Given the description of an element on the screen output the (x, y) to click on. 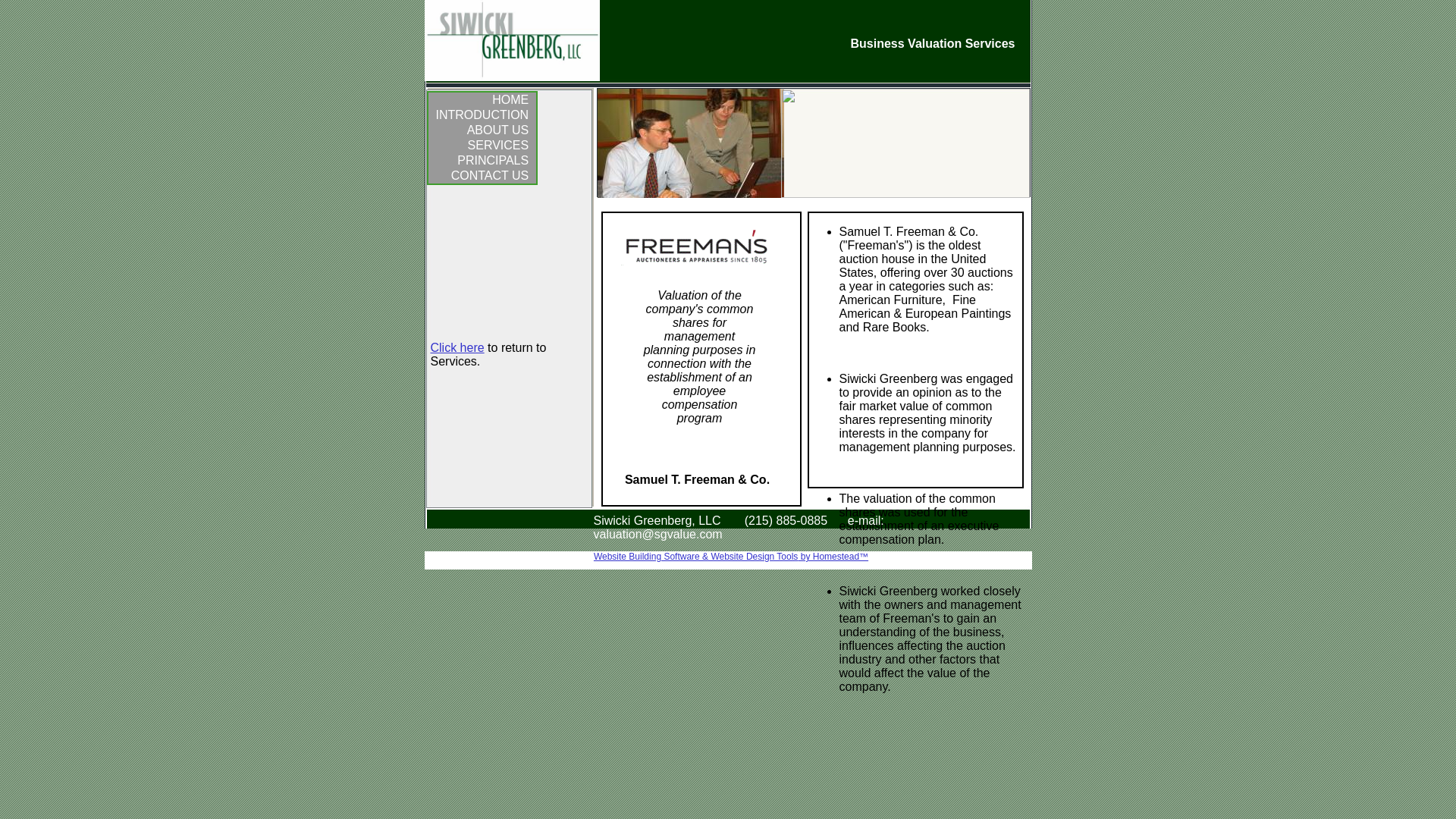
Click here (457, 347)
